Given the description of an element on the screen output the (x, y) to click on. 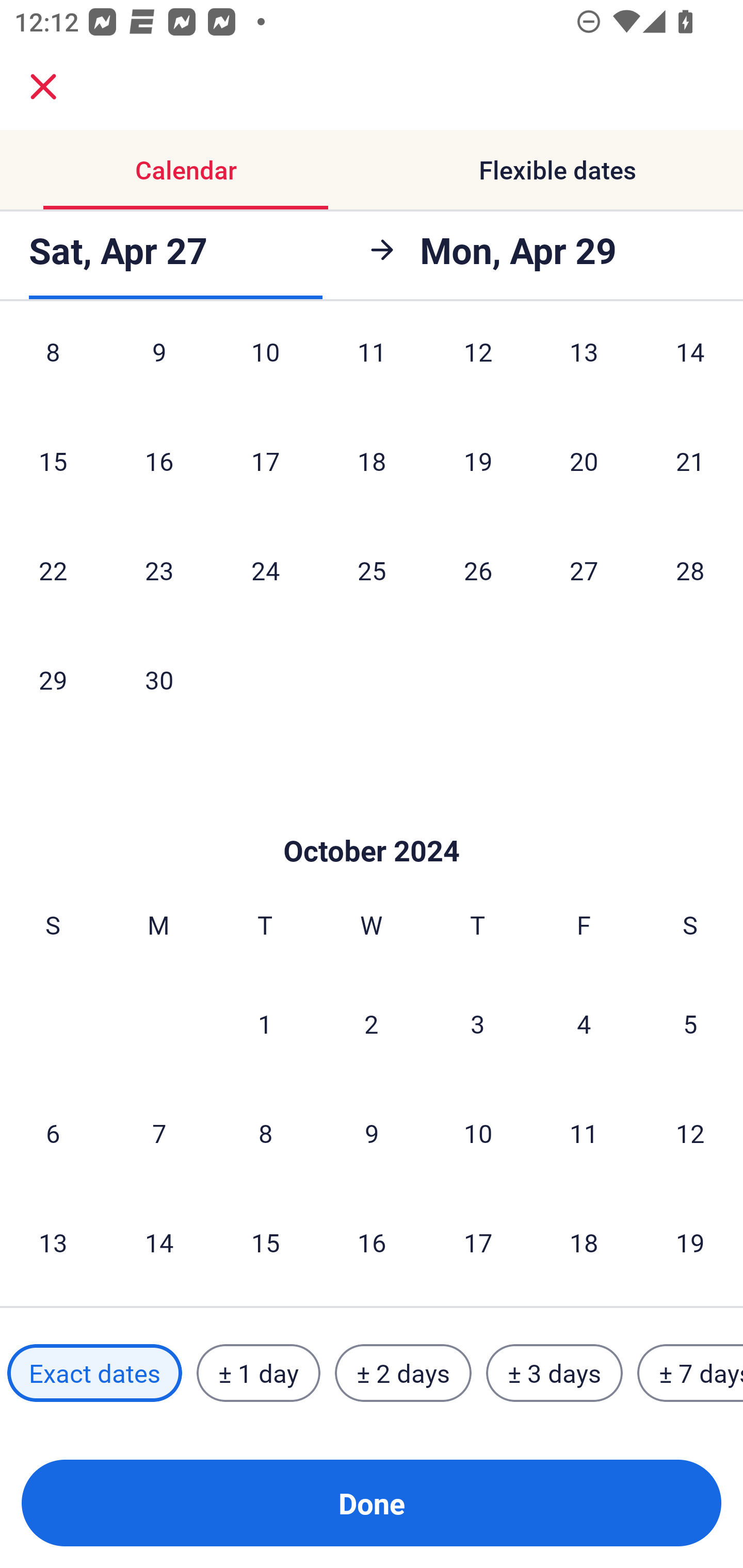
close. (43, 86)
Flexible dates (557, 170)
8 Sunday, September 8, 2024 (53, 367)
9 Monday, September 9, 2024 (159, 367)
10 Tuesday, September 10, 2024 (265, 367)
11 Wednesday, September 11, 2024 (371, 367)
12 Thursday, September 12, 2024 (477, 367)
13 Friday, September 13, 2024 (584, 367)
14 Saturday, September 14, 2024 (690, 367)
15 Sunday, September 15, 2024 (53, 460)
16 Monday, September 16, 2024 (159, 460)
17 Tuesday, September 17, 2024 (265, 460)
18 Wednesday, September 18, 2024 (371, 460)
19 Thursday, September 19, 2024 (477, 460)
20 Friday, September 20, 2024 (584, 460)
21 Saturday, September 21, 2024 (690, 460)
22 Sunday, September 22, 2024 (53, 569)
23 Monday, September 23, 2024 (159, 569)
24 Tuesday, September 24, 2024 (265, 569)
25 Wednesday, September 25, 2024 (371, 569)
26 Thursday, September 26, 2024 (477, 569)
27 Friday, September 27, 2024 (584, 569)
28 Saturday, September 28, 2024 (690, 569)
29 Sunday, September 29, 2024 (53, 679)
30 Monday, September 30, 2024 (159, 679)
Skip to Done (371, 819)
1 Tuesday, October 1, 2024 (264, 1023)
2 Wednesday, October 2, 2024 (371, 1023)
3 Thursday, October 3, 2024 (477, 1023)
4 Friday, October 4, 2024 (584, 1023)
5 Saturday, October 5, 2024 (690, 1023)
6 Sunday, October 6, 2024 (53, 1132)
7 Monday, October 7, 2024 (159, 1132)
8 Tuesday, October 8, 2024 (265, 1132)
9 Wednesday, October 9, 2024 (371, 1132)
10 Thursday, October 10, 2024 (477, 1132)
11 Friday, October 11, 2024 (584, 1132)
12 Saturday, October 12, 2024 (690, 1132)
13 Sunday, October 13, 2024 (53, 1242)
14 Monday, October 14, 2024 (159, 1242)
15 Tuesday, October 15, 2024 (265, 1242)
16 Wednesday, October 16, 2024 (371, 1242)
17 Thursday, October 17, 2024 (477, 1242)
18 Friday, October 18, 2024 (584, 1242)
19 Saturday, October 19, 2024 (690, 1242)
Exact dates (94, 1372)
± 1 day (258, 1372)
± 2 days (403, 1372)
± 3 days (553, 1372)
± 7 days (690, 1372)
